Given the description of an element on the screen output the (x, y) to click on. 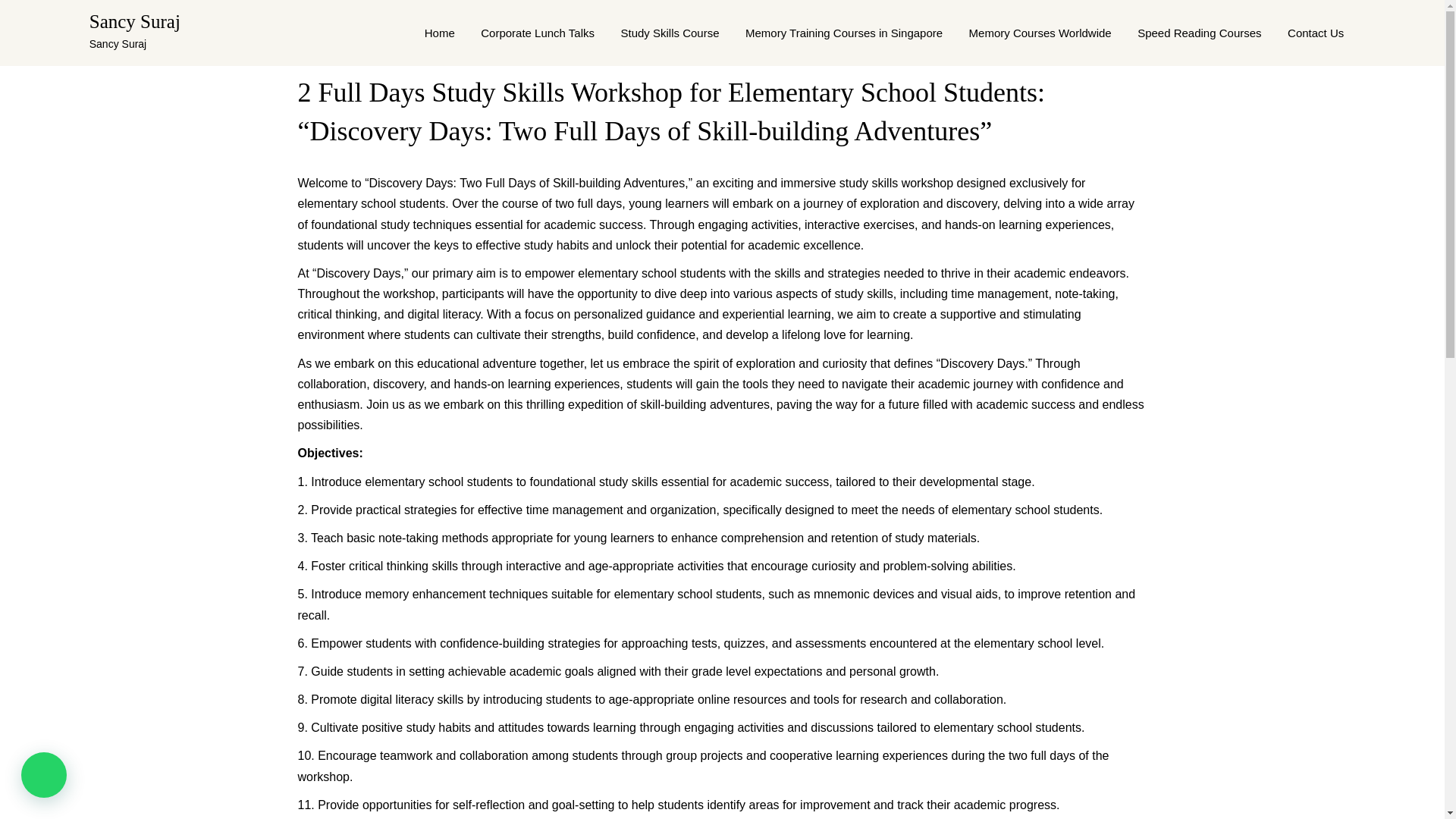
Corporate Lunch Talks (536, 33)
Sancy Suraj (134, 21)
Home (439, 33)
Memory Training Courses in Singapore (843, 33)
Contact Us (1315, 33)
Memory Courses Worldwide (1040, 33)
Study Skills Course (669, 33)
Speed Reading Courses (1198, 33)
